Given the description of an element on the screen output the (x, y) to click on. 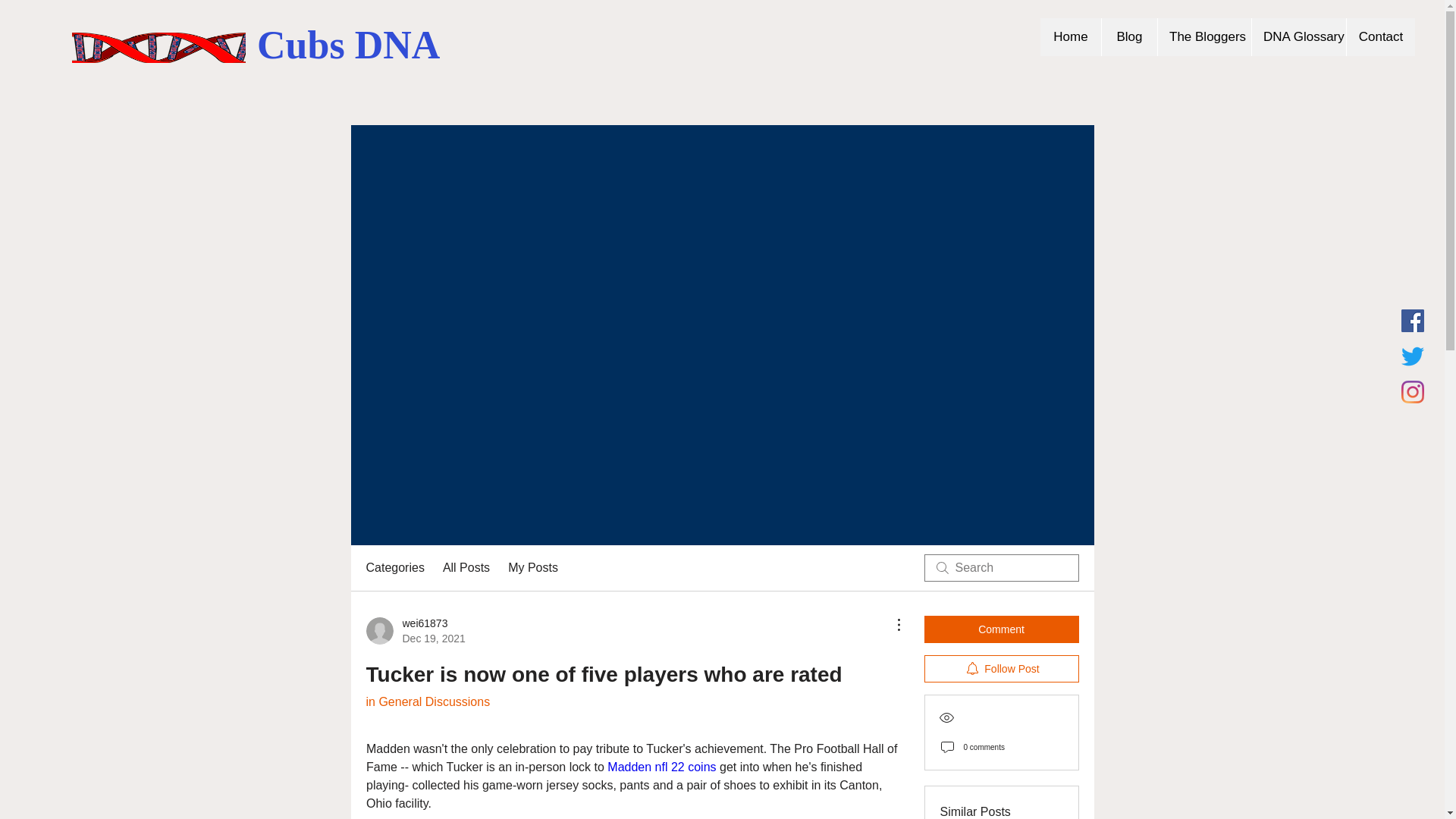
Cubs DNA (348, 44)
Follow Post (1000, 668)
Comment (1000, 628)
Madden nfl 22 coins (661, 766)
Home (1070, 37)
Embedded Content (414, 630)
in General Discussions (1380, 37)
DNA Glossary (427, 701)
The Bloggers (1297, 37)
Blog (1203, 37)
Categories (1128, 37)
All Posts (394, 567)
My Posts (465, 567)
